Given the description of an element on the screen output the (x, y) to click on. 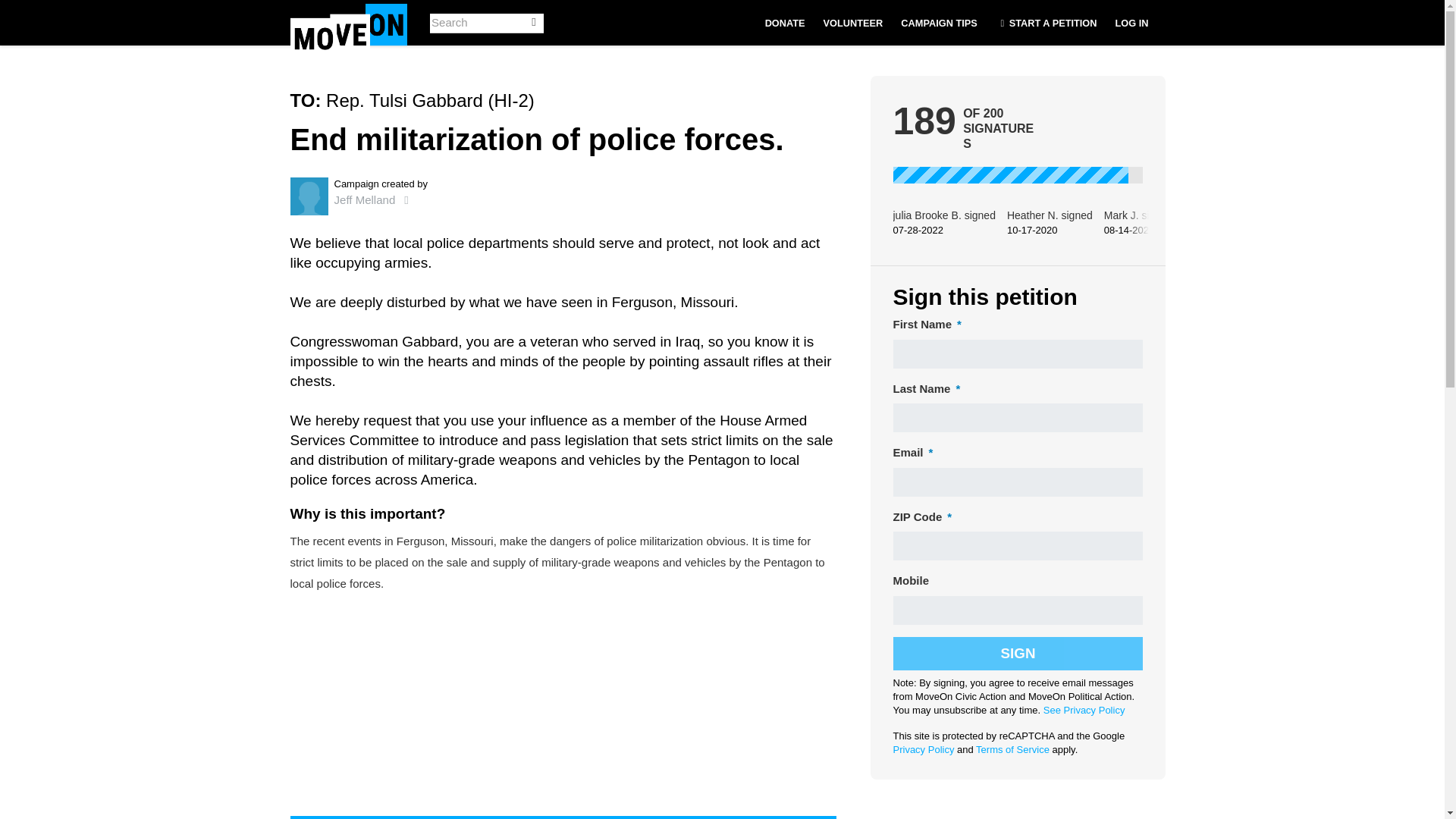
required (956, 324)
Share on Twitter (631, 817)
required (954, 389)
CAMPAIGN TIPS (938, 22)
SIGN (1017, 653)
Email (766, 817)
DONATE (784, 22)
LOG IN (1131, 22)
See Privacy Policy (1084, 709)
Share on Facebook (494, 817)
START A PETITION (1046, 22)
Share via Email (766, 817)
required (928, 452)
Terms of Service (1012, 749)
